Given the description of an element on the screen output the (x, y) to click on. 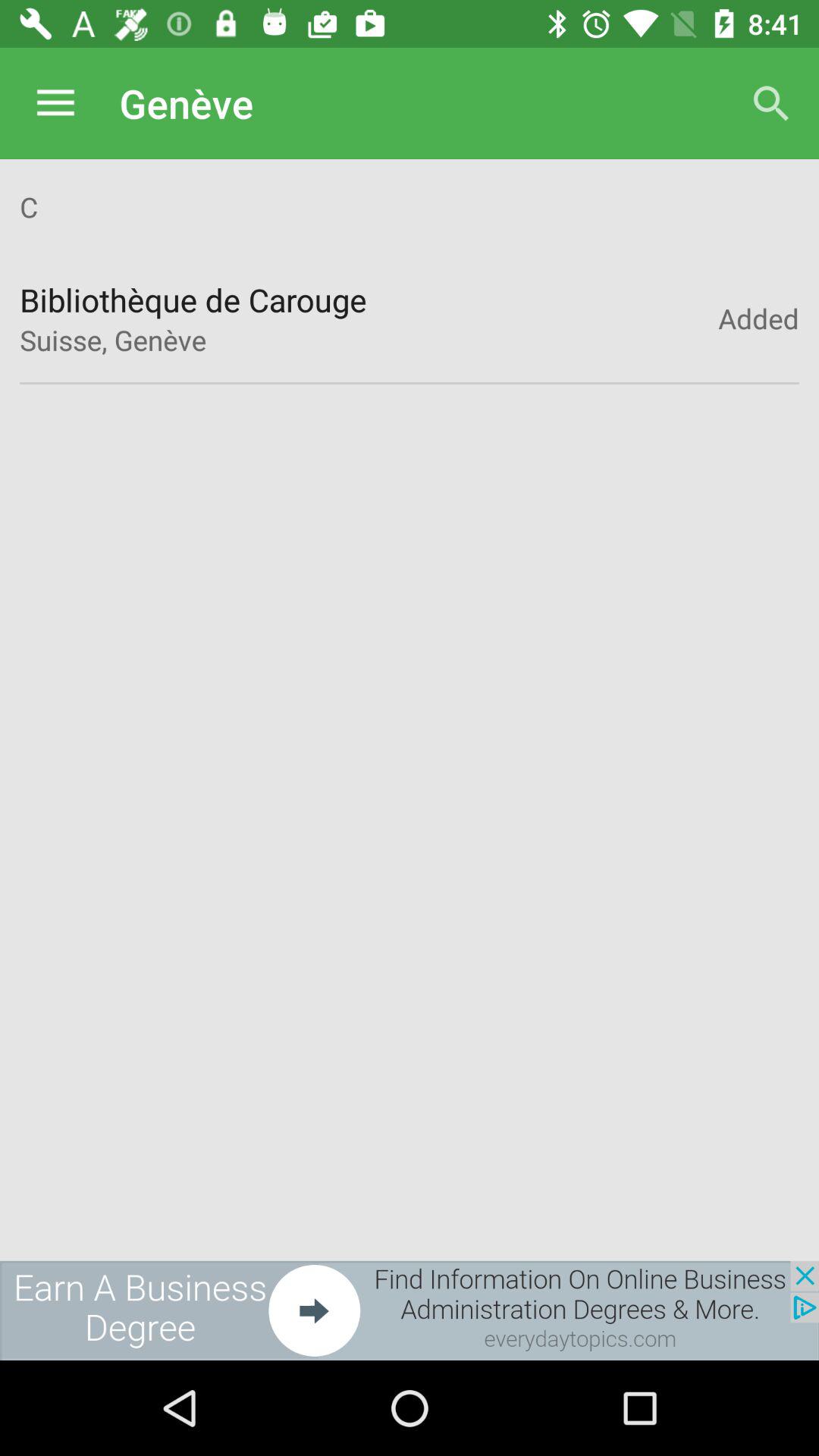
go next (409, 1310)
